Given the description of an element on the screen output the (x, y) to click on. 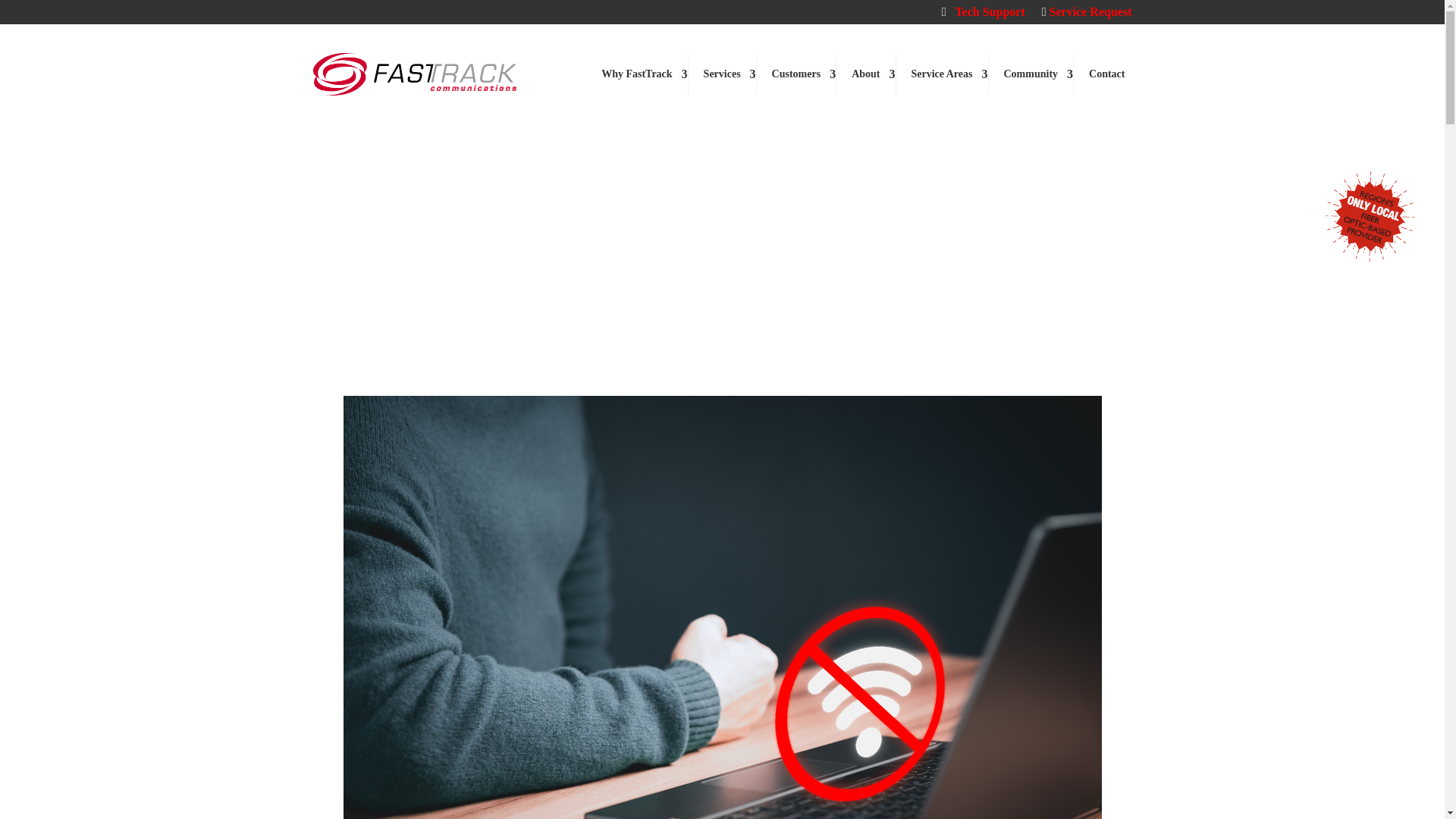
Service Request (1087, 14)
Community (1031, 74)
Why FastTrack (636, 74)
Customers (797, 74)
Contact (1107, 74)
Services (722, 74)
Service Areas (942, 74)
About (865, 74)
  Tech Support (983, 14)
